Given the description of an element on the screen output the (x, y) to click on. 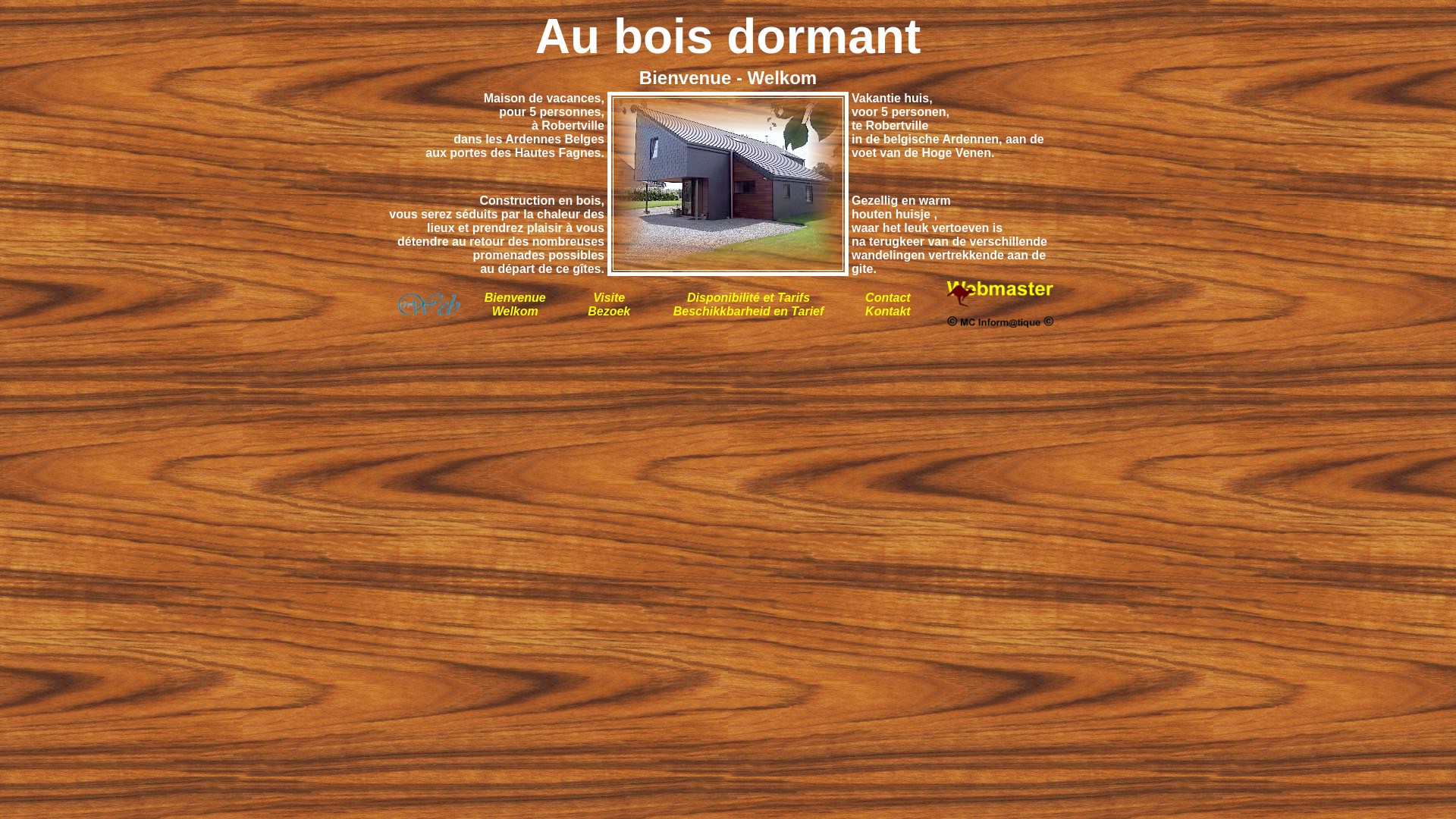
Contact
Kontakt Element type: text (887, 304)
Bienvenue
Welkom Element type: text (515, 304)
Visite Element type: text (608, 297)
Bezoek Element type: text (608, 317)
